Given the description of an element on the screen output the (x, y) to click on. 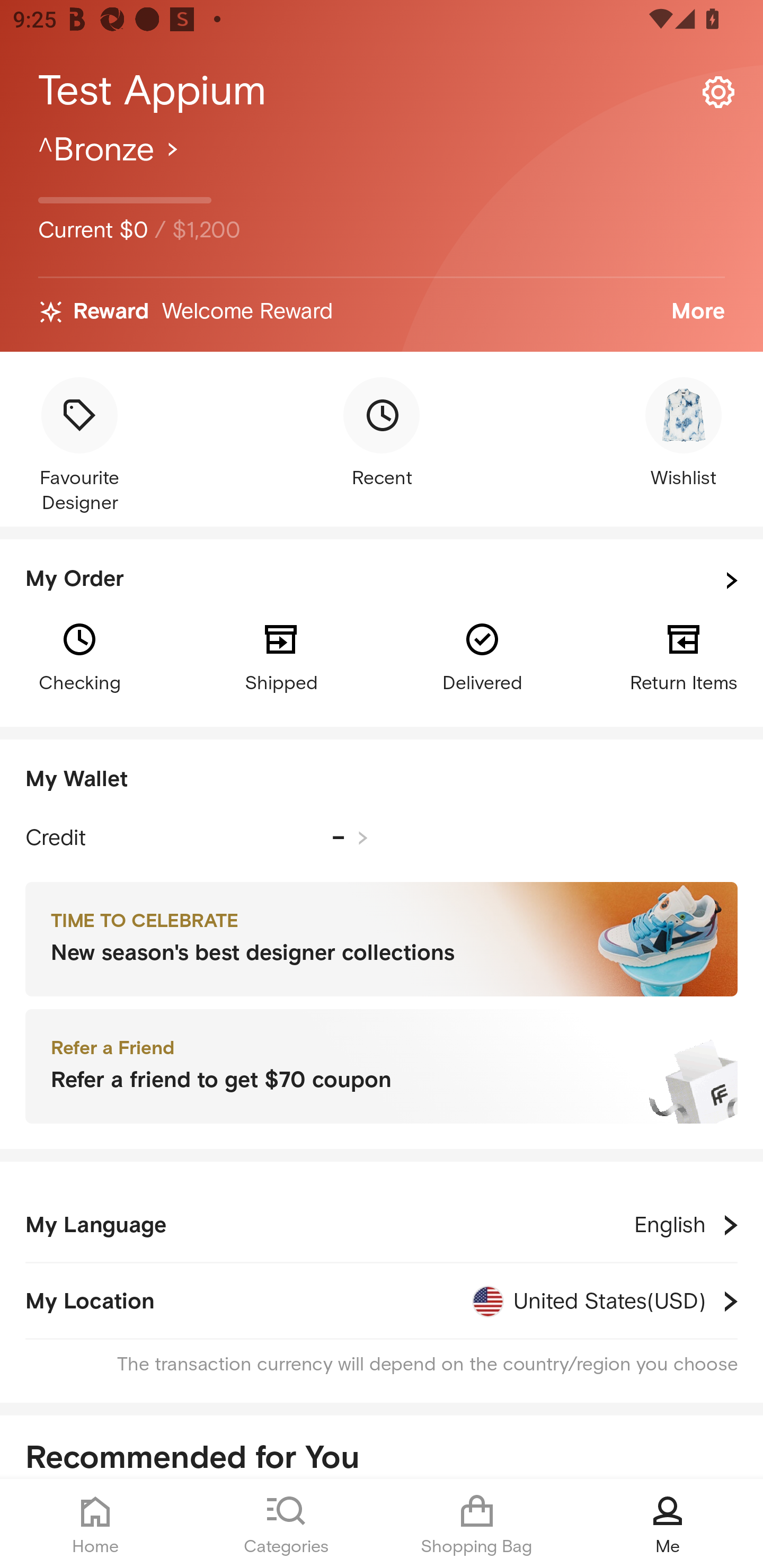
Test Appium (381, 91)
Current $0 / $1,200 Reward Welcome Reward More (381, 240)
Reward Welcome Reward More (381, 311)
Favourite Designer (79, 446)
Recent (381, 433)
Wishlist (683, 433)
My Order (381, 580)
Checking (79, 656)
Shipped (280, 656)
Delivered (482, 656)
Return Items (683, 656)
My Wallet (381, 779)
Credit - (196, 837)
Refer a Friend Refer a friend to get $70 coupon (381, 1066)
My Language English (381, 1224)
My Location United States(USD) (381, 1301)
Home (95, 1523)
Categories (285, 1523)
Shopping Bag (476, 1523)
